Given the description of an element on the screen output the (x, y) to click on. 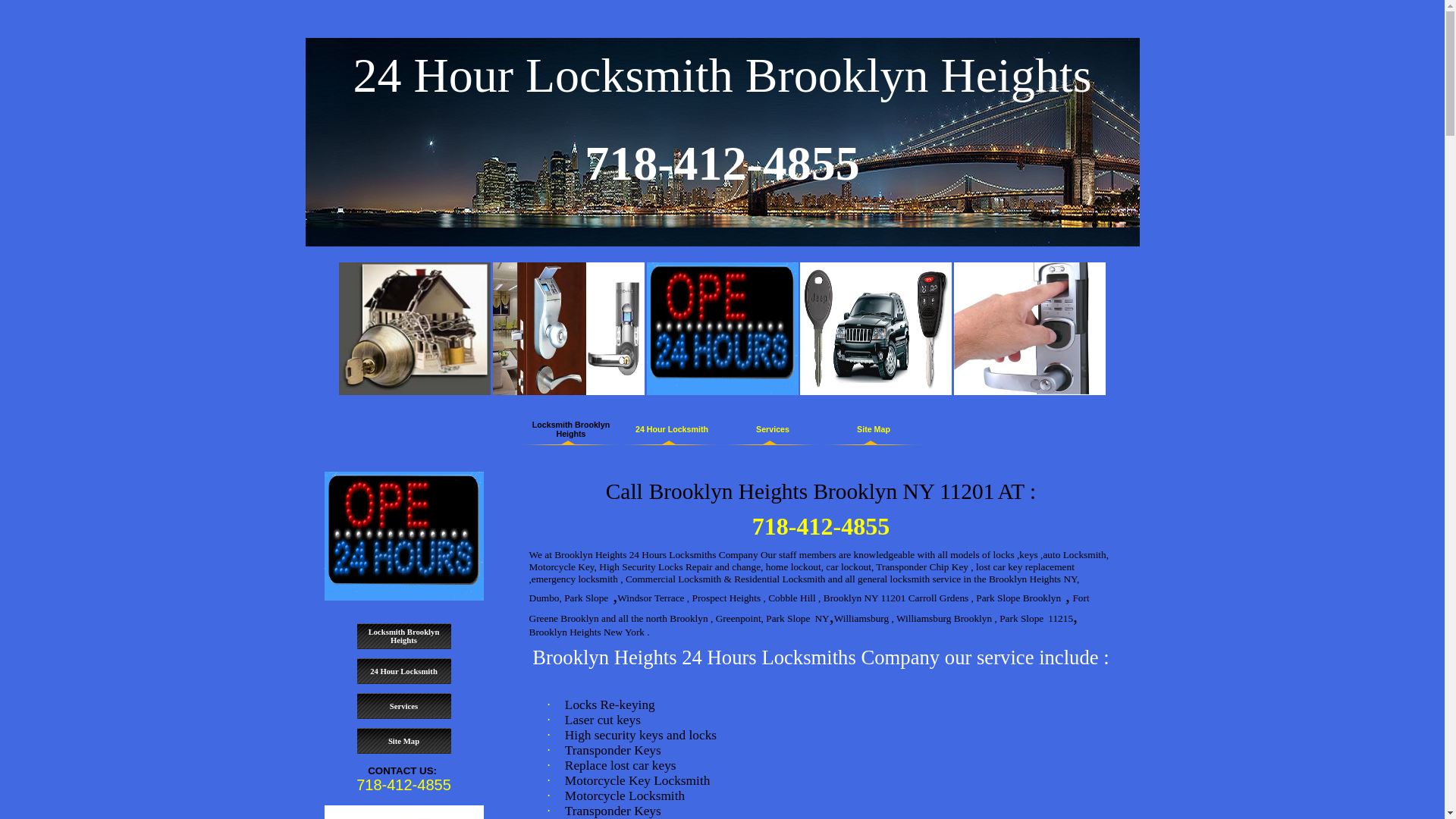
24 Hour Locksmith Element type: text (671, 428)
Services Element type: text (772, 428)
Site Map Element type: text (403, 741)
Locksmith Brooklyn Heights 718-412-4855 Element type: hover (414, 328)
Locksmith Brooklyn Heights Element type: text (403, 635)
Brooklyn Heights 24 hours Locksmith service  Element type: hover (403, 535)
Site Map Element type: text (873, 428)
Locksmith Brooklyn Heights Element type: text (570, 429)
Locksmith Service Company in Brooklyn Heights Brooklyn  Element type: hover (568, 328)
Services Element type: text (403, 706)
24 Hours Locksmith Brooklyn Heights Brooklyn 11201 Element type: hover (721, 328)
24 Hour Locksmith Element type: text (403, 671)
